Given the description of an element on the screen output the (x, y) to click on. 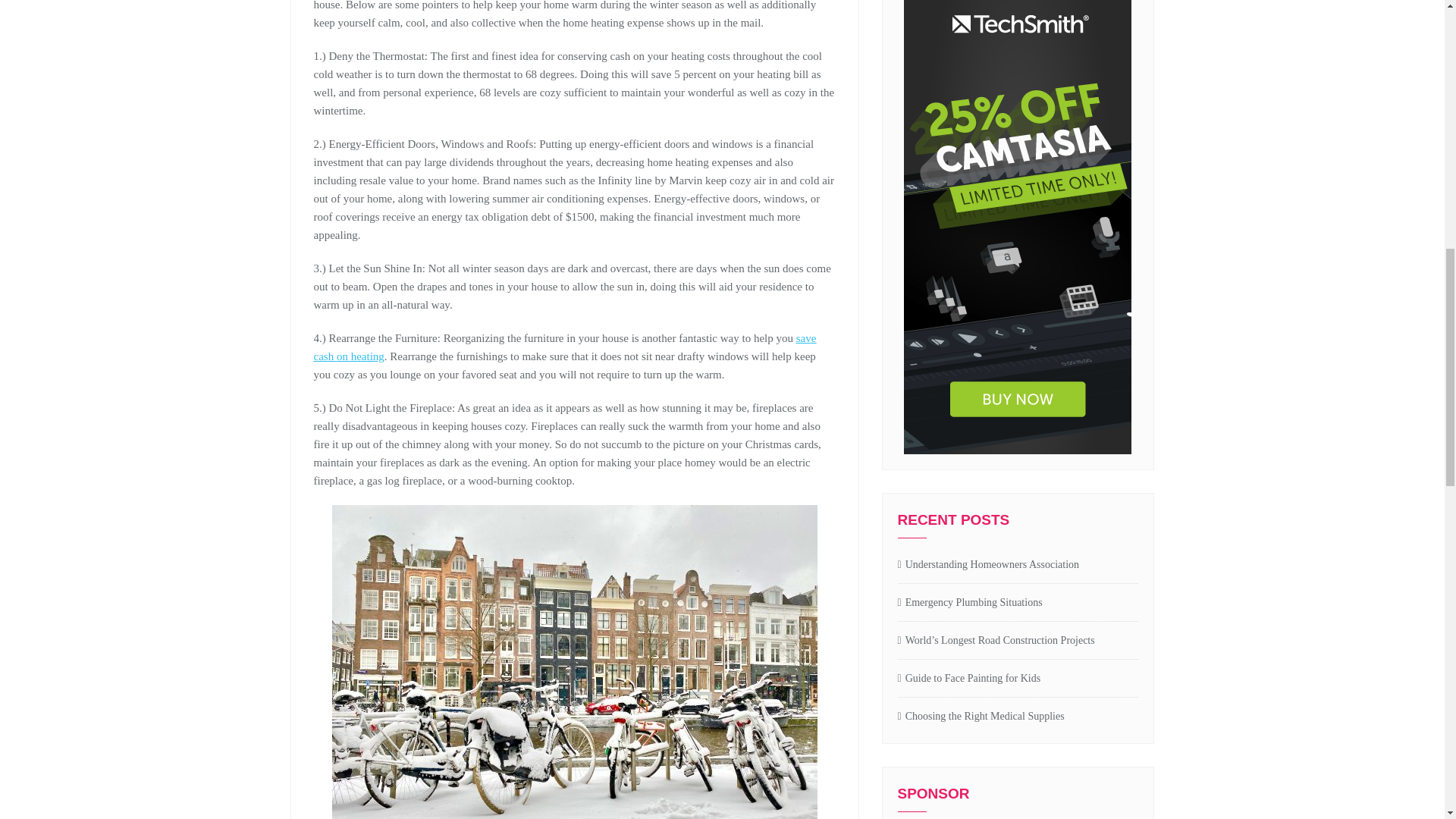
save cash on heating (565, 347)
